Given the description of an element on the screen output the (x, y) to click on. 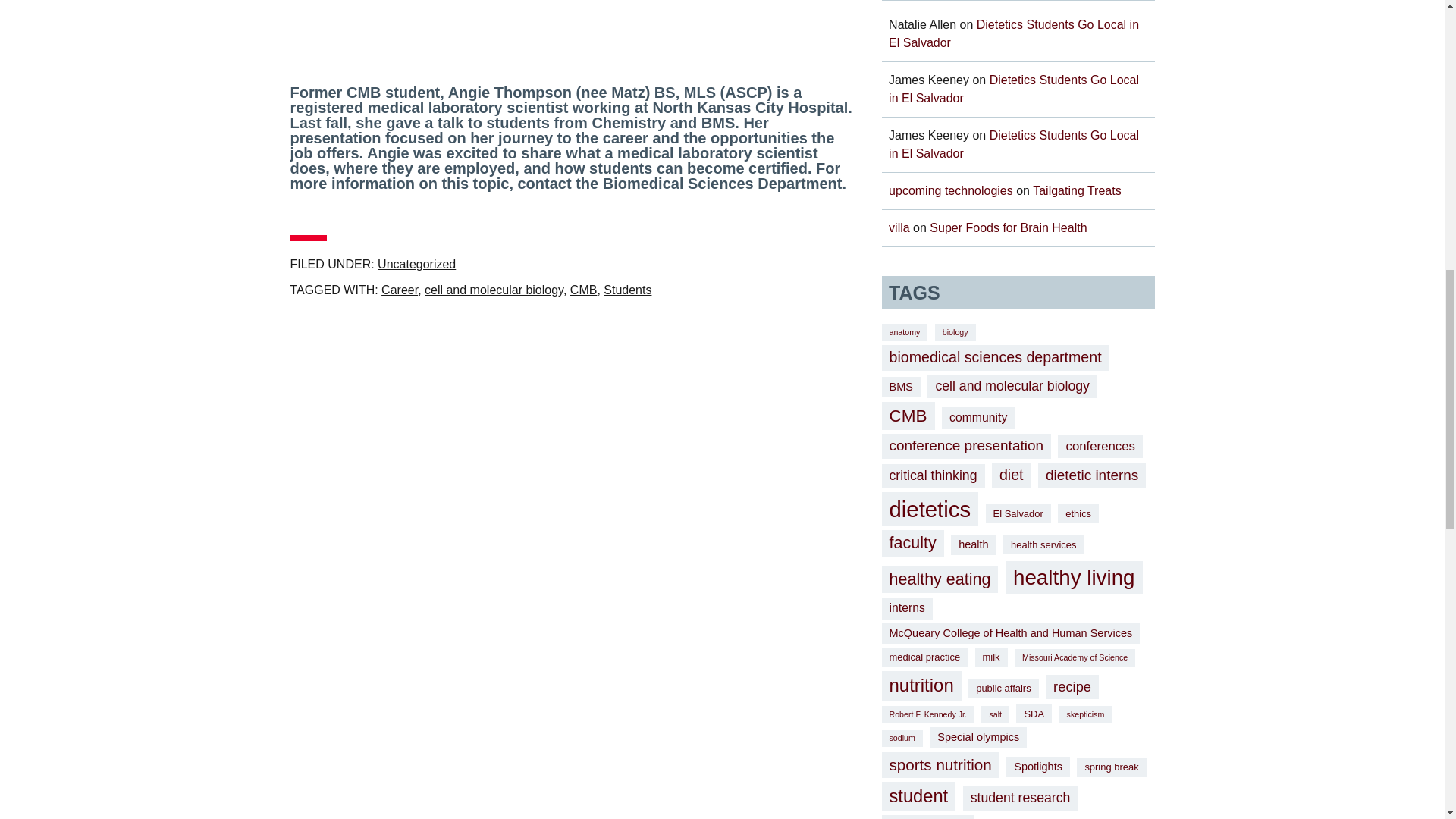
Students (627, 289)
Uncategorized (416, 264)
CMB (583, 289)
Career (399, 289)
cell and molecular biology (494, 289)
